Given the description of an element on the screen output the (x, y) to click on. 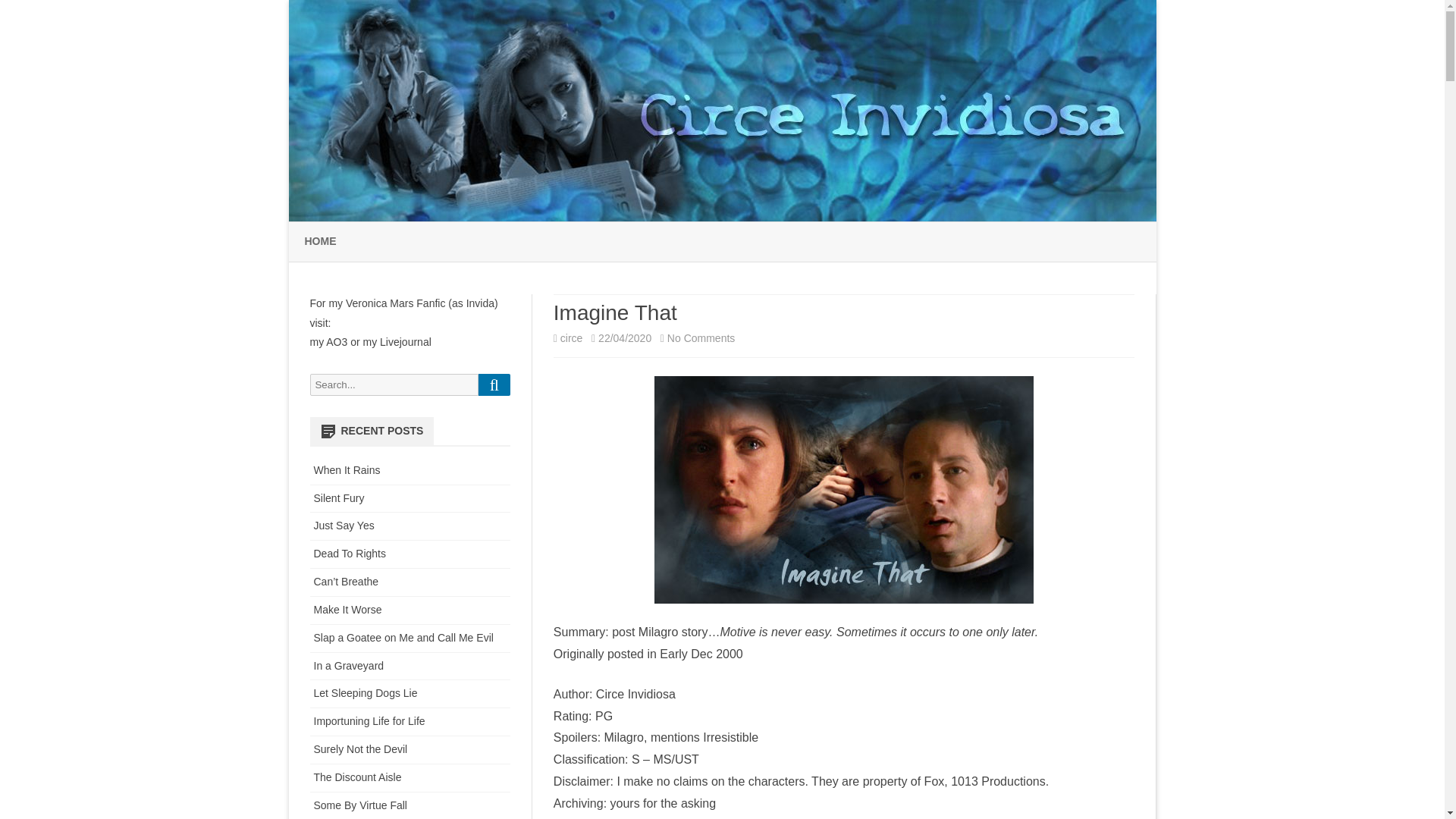
Surely Not the Devil (360, 748)
Search for: (392, 384)
Livejournal (405, 341)
Some By Virtue Fall (360, 805)
Dead To Rights (349, 553)
Skip to content (700, 337)
Silent Fury (349, 665)
